Given the description of an element on the screen output the (x, y) to click on. 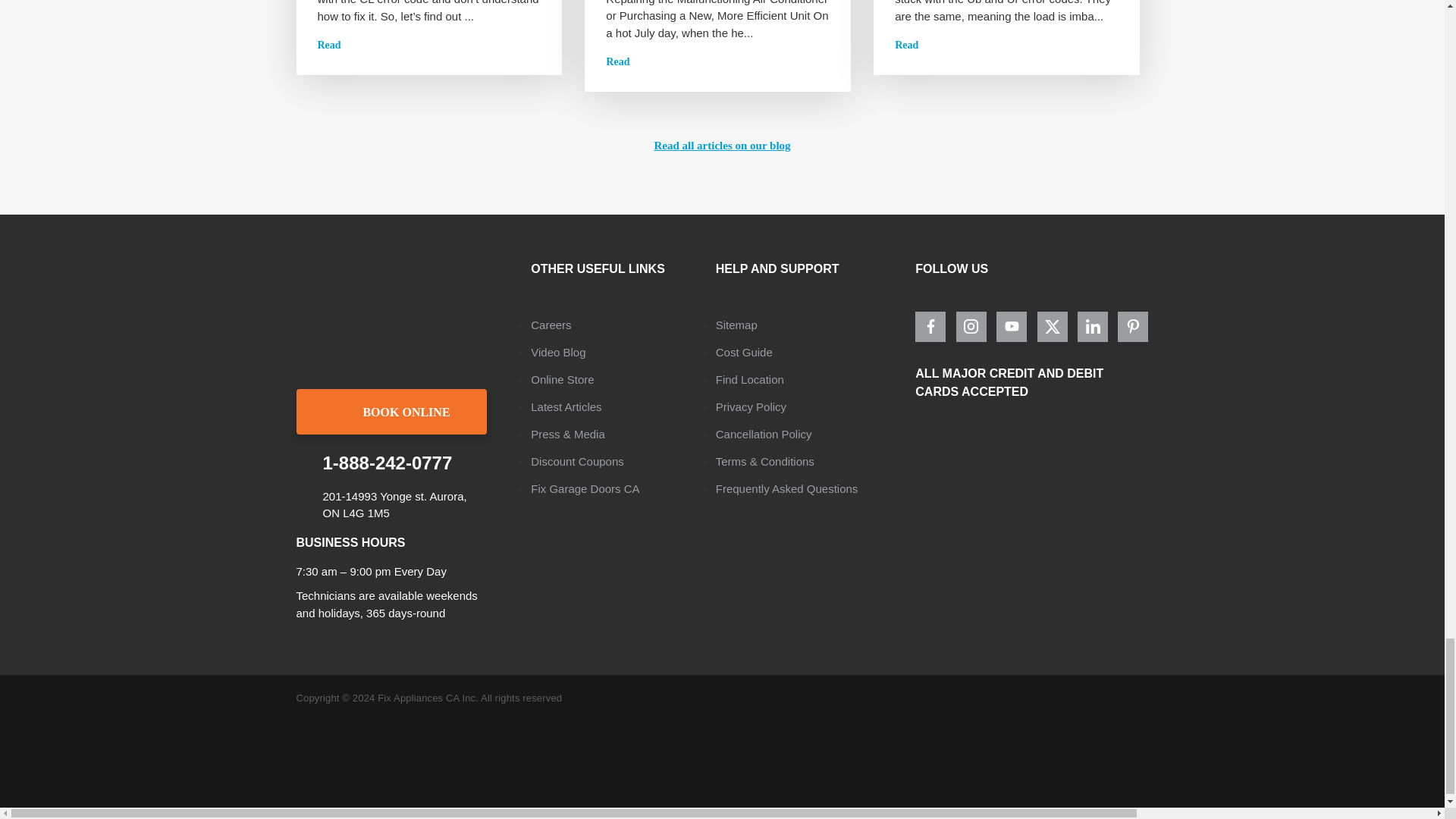
Technical Standards and Safety Authority (1028, 529)
DMCA.com Protection Status (1034, 745)
HRAI Training (1256, 529)
WSIB Ontario  (1413, 529)
